Given the description of an element on the screen output the (x, y) to click on. 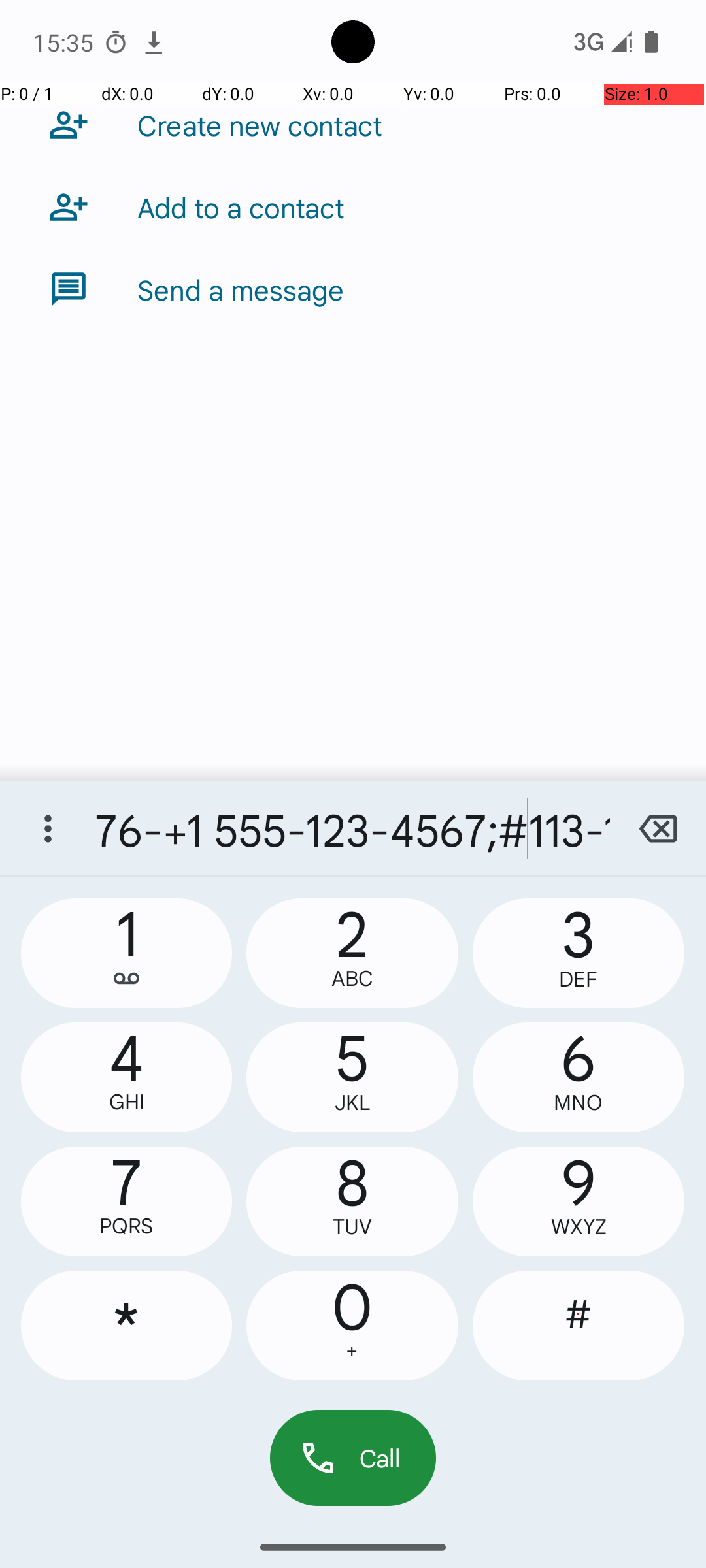
+1 476-+1 555-123-4567;#113-1773 Element type: android.widget.EditText (352, 828)
